Given the description of an element on the screen output the (x, y) to click on. 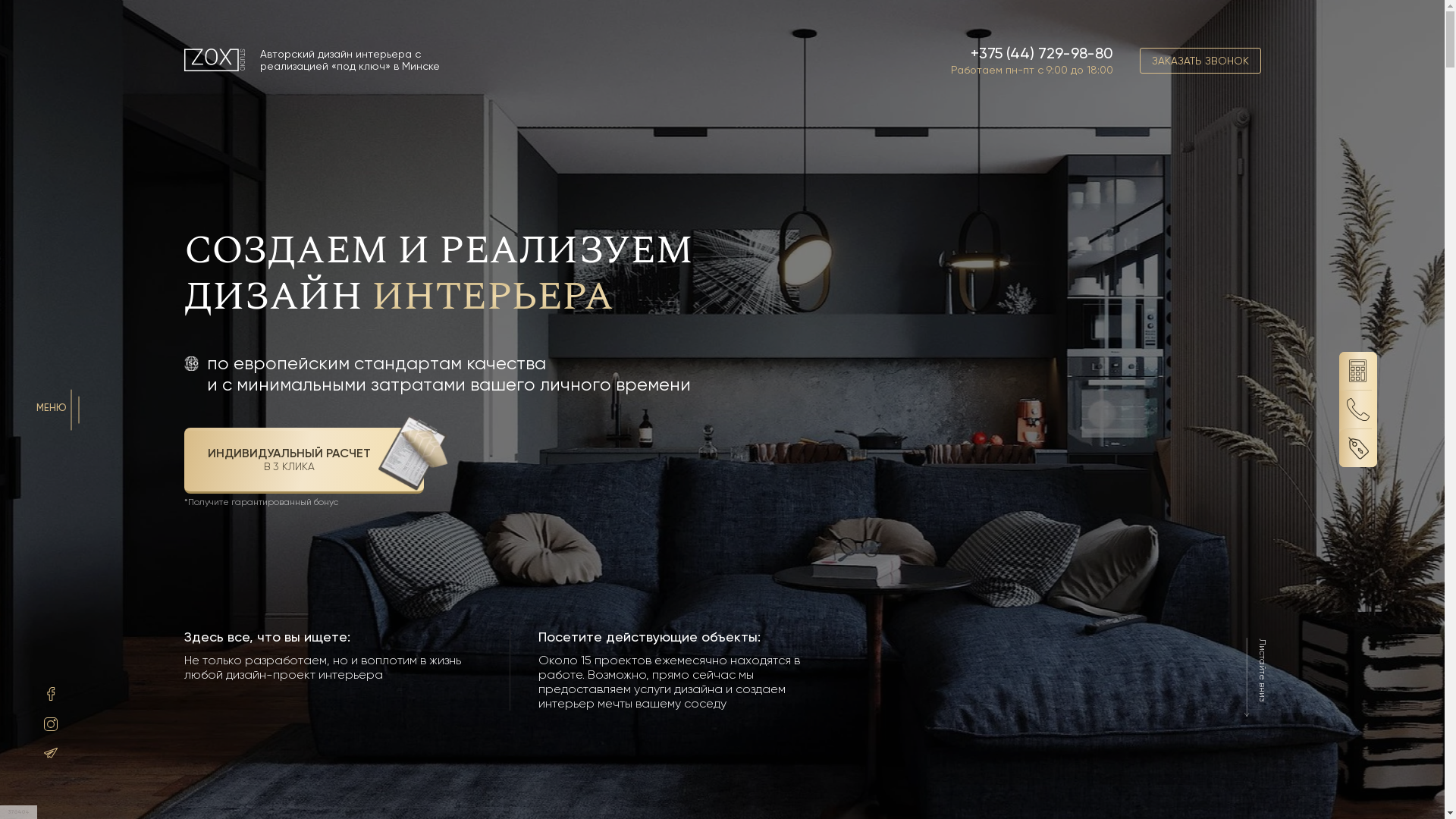
+375 (44) 729-98-80 Element type: text (1041, 52)
